Given the description of an element on the screen output the (x, y) to click on. 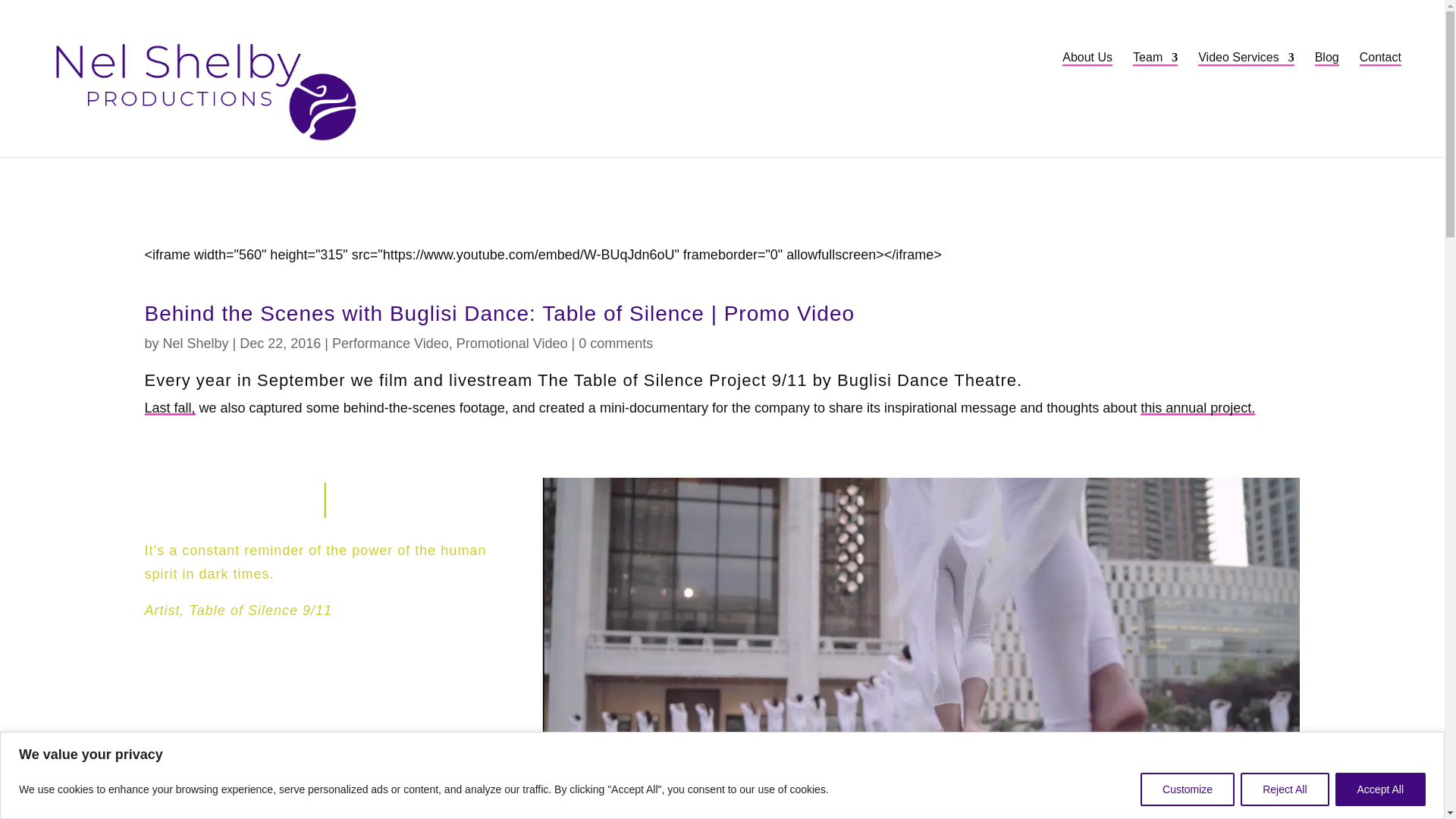
Team (1154, 59)
About Us (1087, 59)
Contact (1379, 59)
Nel Shelby (195, 343)
Posts by Nel Shelby (195, 343)
Blog (1326, 59)
Video Services (1246, 59)
Accept All (1380, 788)
Customize (1187, 788)
Reject All (1283, 788)
